Given the description of an element on the screen output the (x, y) to click on. 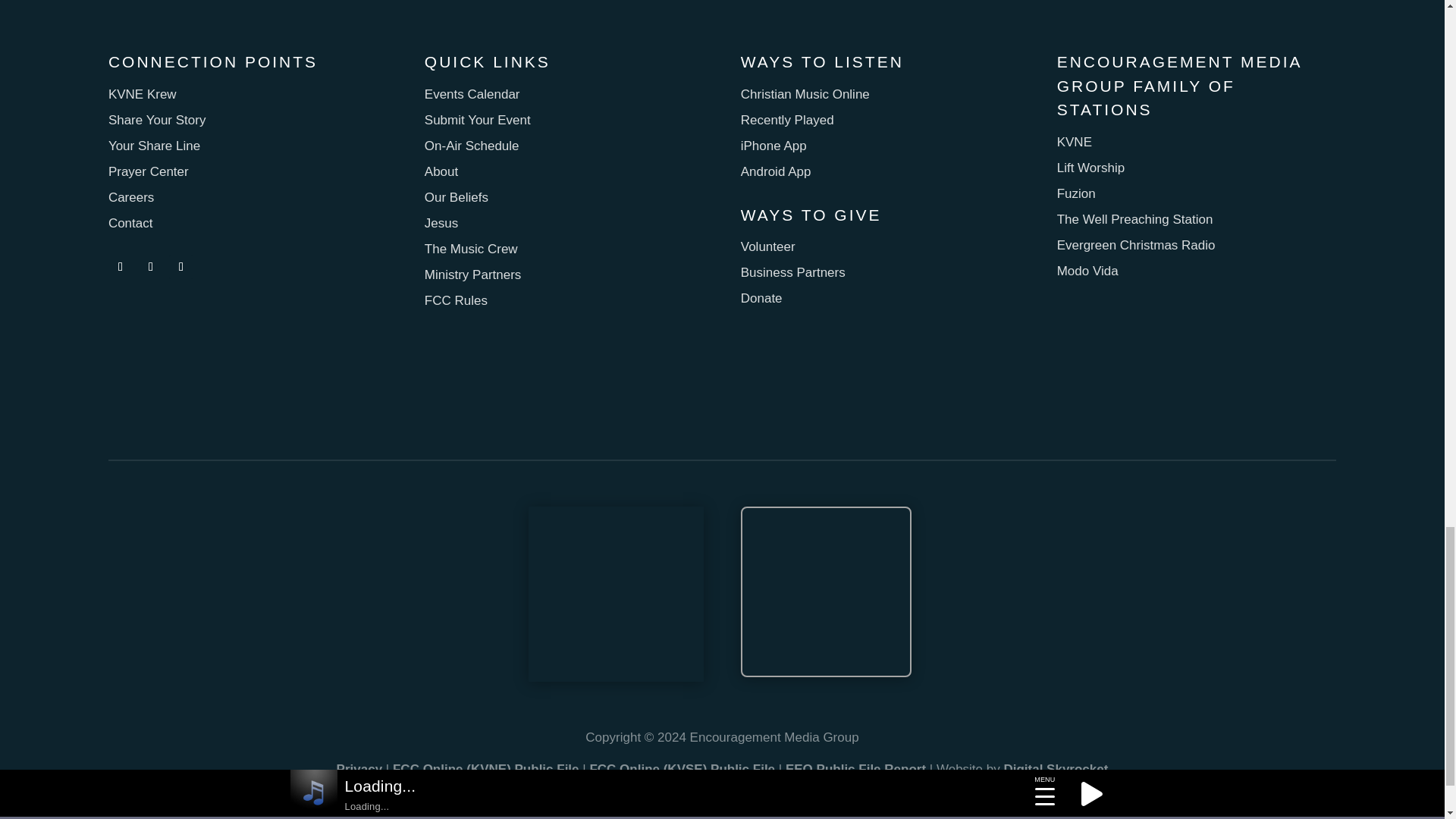
Follow on Instagram (150, 266)
Follow on Vimeo (180, 266)
Follow on Facebook (119, 266)
